Given the description of an element on the screen output the (x, y) to click on. 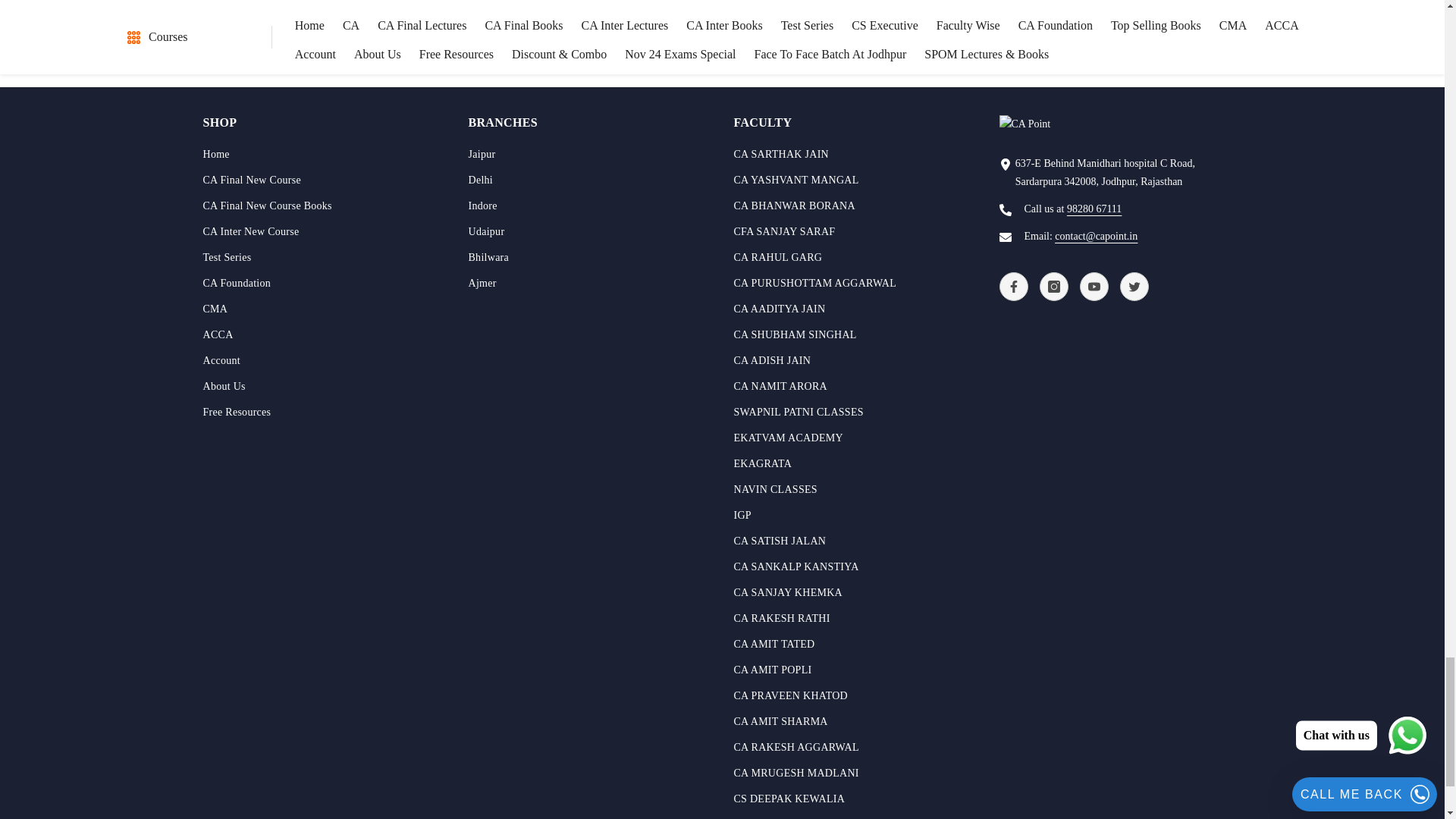
tel:09828067111 (1094, 208)
